Given the description of an element on the screen output the (x, y) to click on. 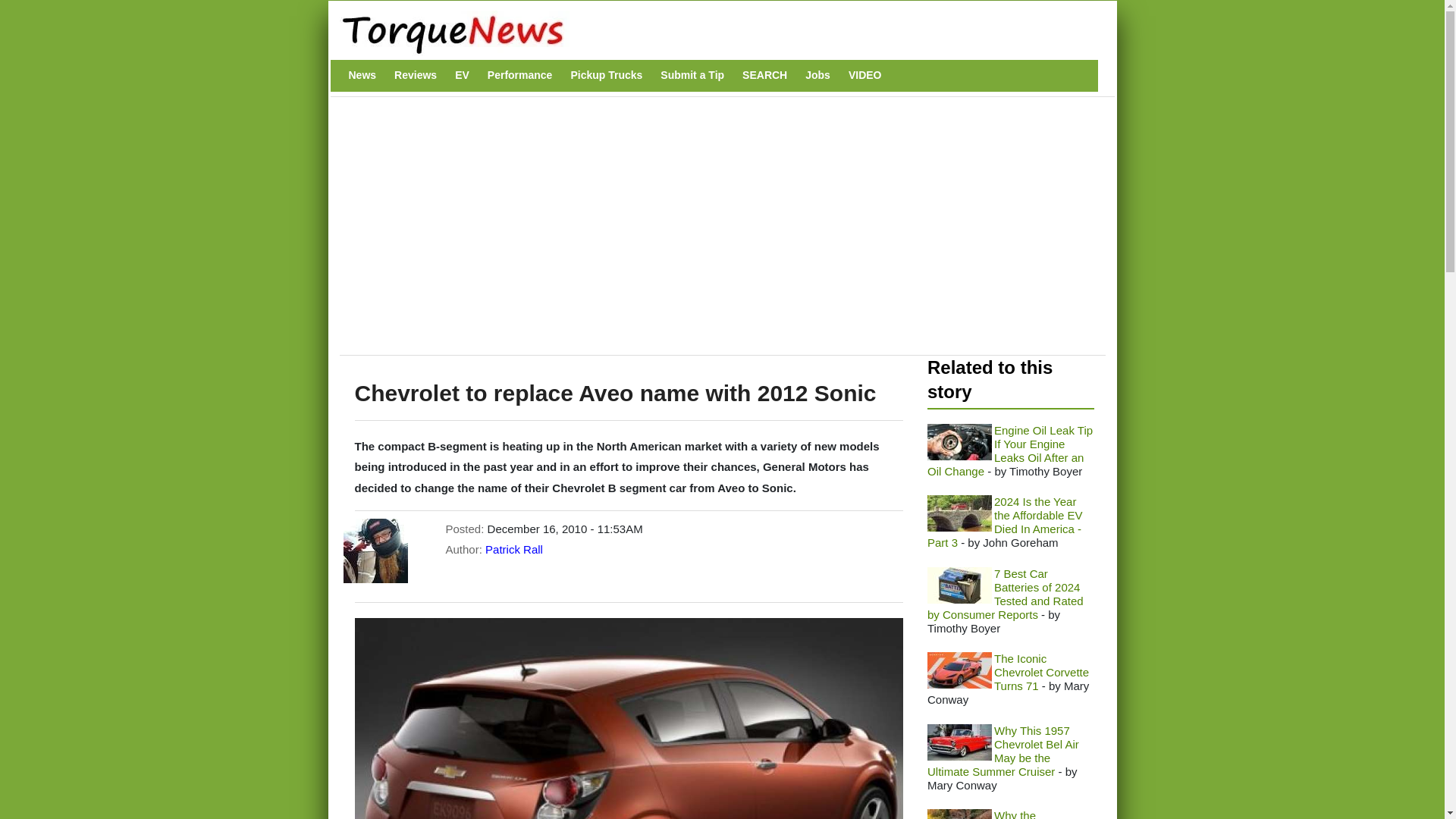
Submit a Tip (691, 75)
Sometimes Your Hands are The Best Tool (959, 442)
News (362, 75)
VIDEO (865, 75)
SEARCH (764, 75)
View user profile. (513, 549)
Home (713, 32)
Pickup Trucks (605, 75)
Automotive journalism jobs and careers are TorqueNews.com. (817, 75)
Reviews (415, 75)
Jobs (817, 75)
EV (462, 75)
Patrick Rall (513, 549)
Performance (520, 75)
